Given the description of an element on the screen output the (x, y) to click on. 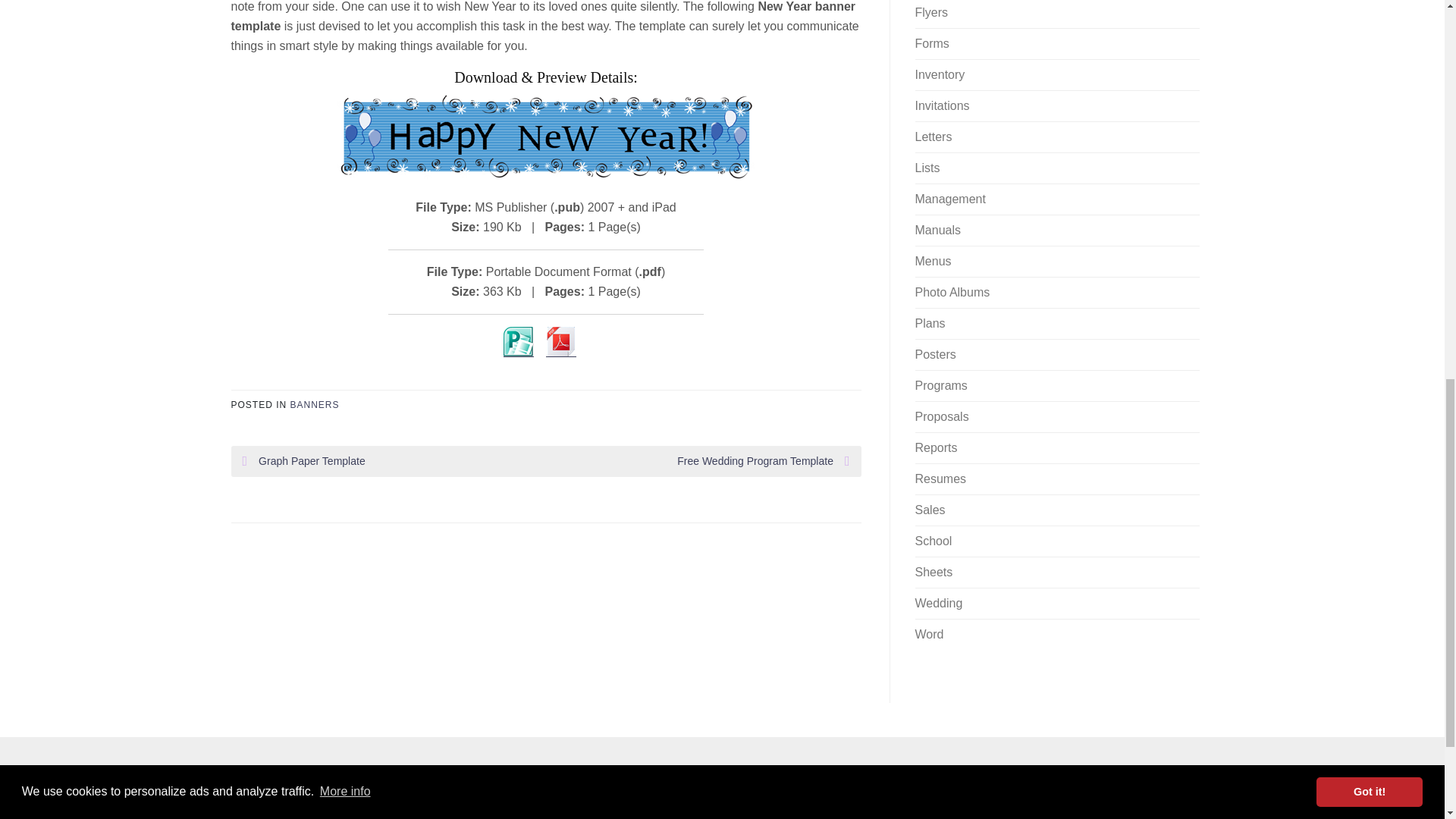
Free Wedding Program Template (698, 461)
Printable Happy New Year Banner (545, 135)
Forms (931, 42)
Printable Happy New Year Banner in MS Publisher Format (518, 341)
Flyers (930, 11)
Inventory (938, 74)
Happy New Year Banner Template in PDF Format (561, 341)
BANNERS (314, 404)
Graph Paper Template (395, 461)
